Given the description of an element on the screen output the (x, y) to click on. 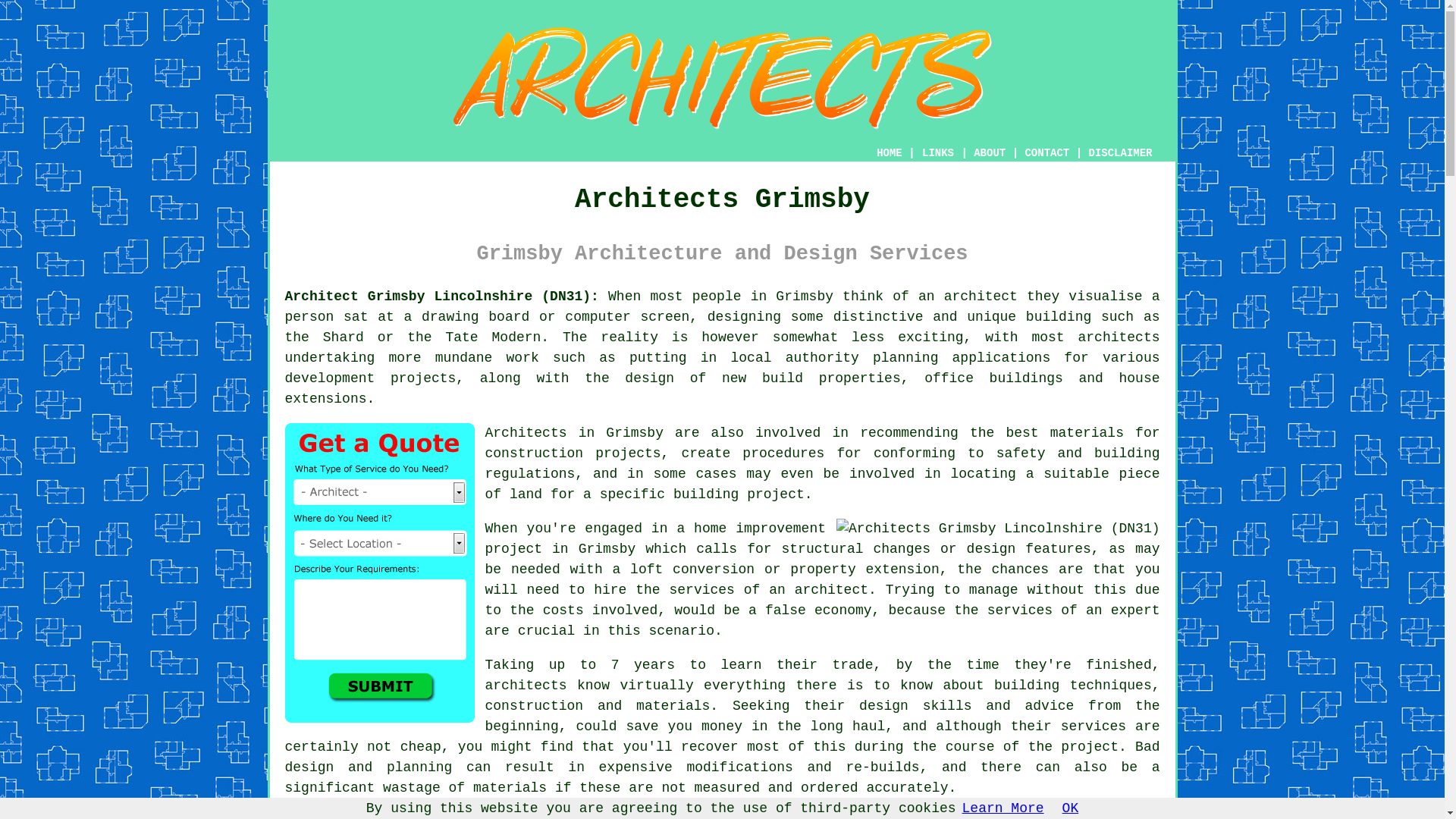
architect (980, 296)
HOME (889, 152)
architects (525, 685)
LINKS (938, 152)
Architects Grimsby (720, 78)
